Given the description of an element on the screen output the (x, y) to click on. 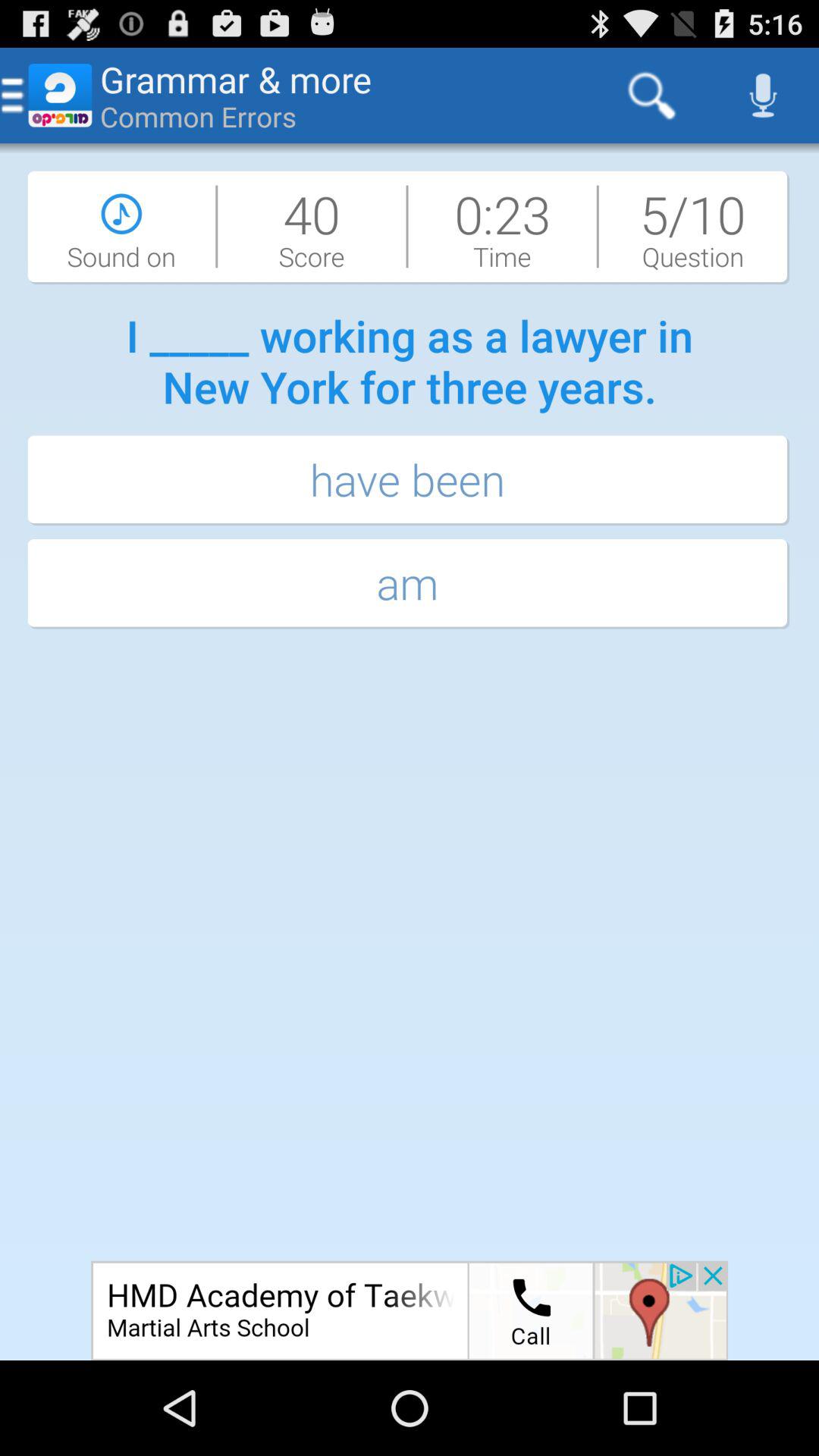
open an advertisement (409, 1310)
